Given the description of an element on the screen output the (x, y) to click on. 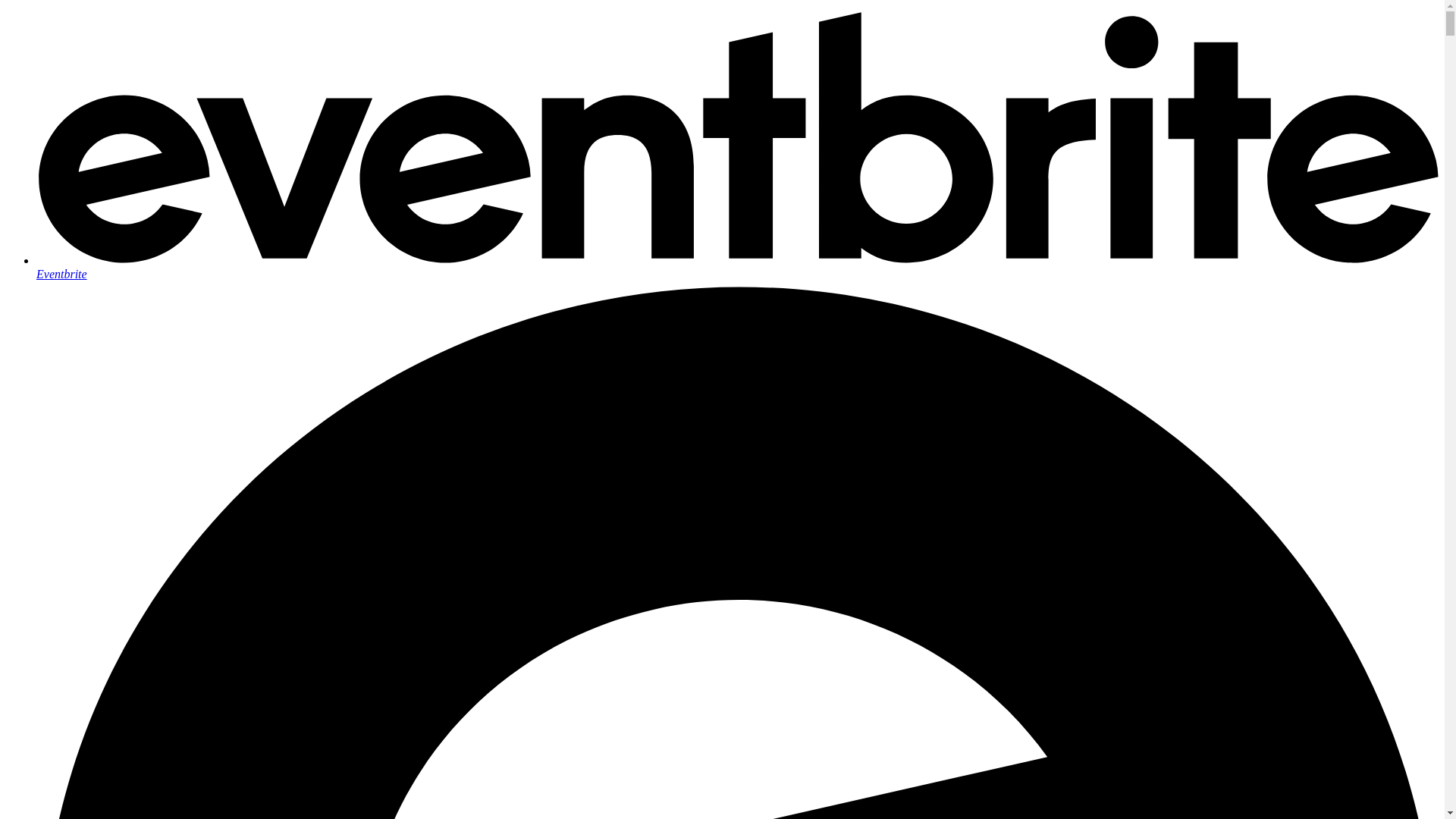
Eventbrite Element type: text (737, 267)
